Given the description of an element on the screen output the (x, y) to click on. 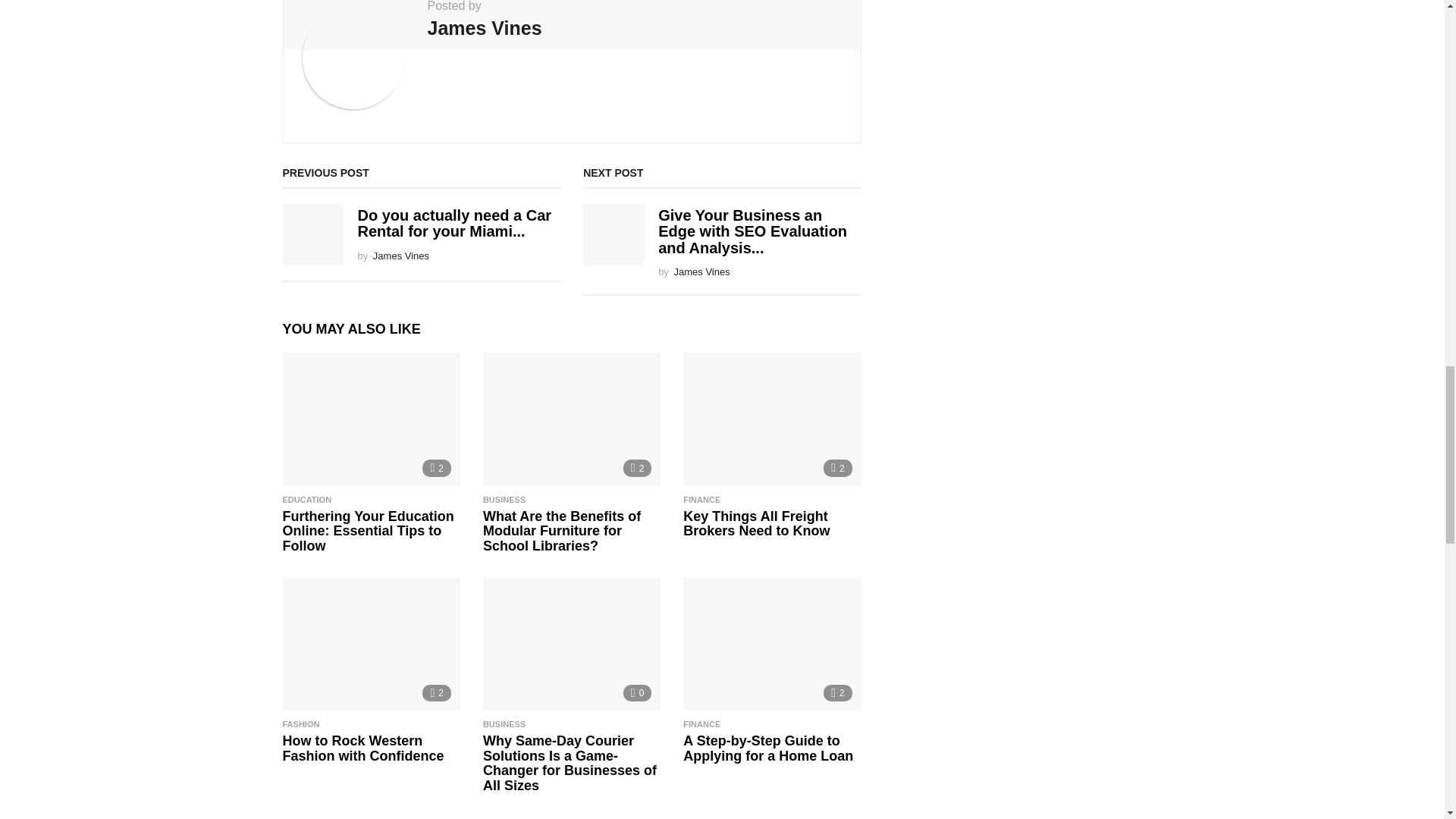
Furthering Your Education Online: Essential Tips to Follow (371, 419)
How to Rock Western Fashion with Confidence (371, 643)
Key Things All Freight Brokers Need to Know (771, 419)
A Step-by-Step Guide to Applying for a Home Loan (771, 643)
